Given the description of an element on the screen output the (x, y) to click on. 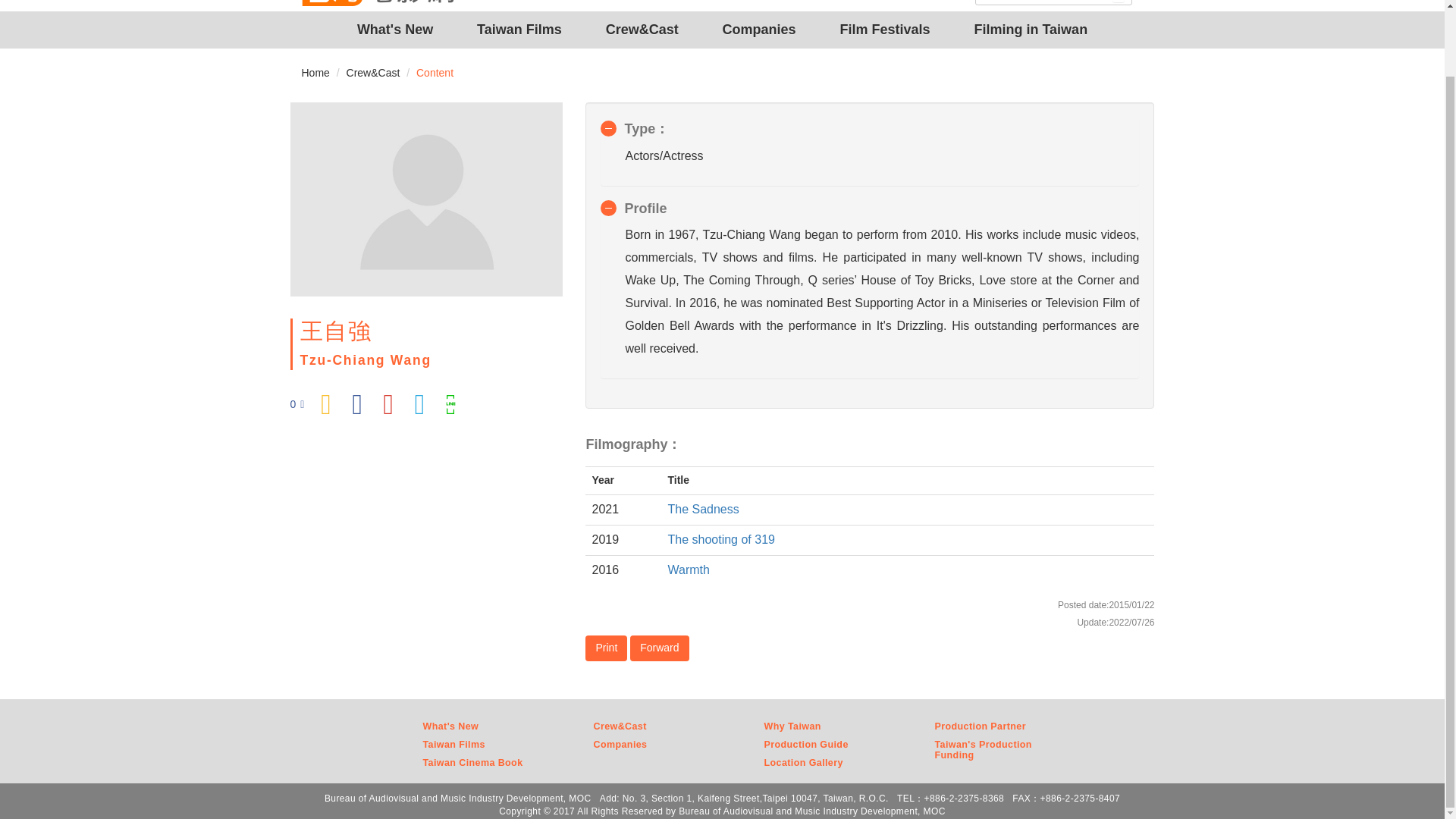
What's New (394, 29)
Taiwan Films (519, 29)
Companies (758, 29)
